Given the description of an element on the screen output the (x, y) to click on. 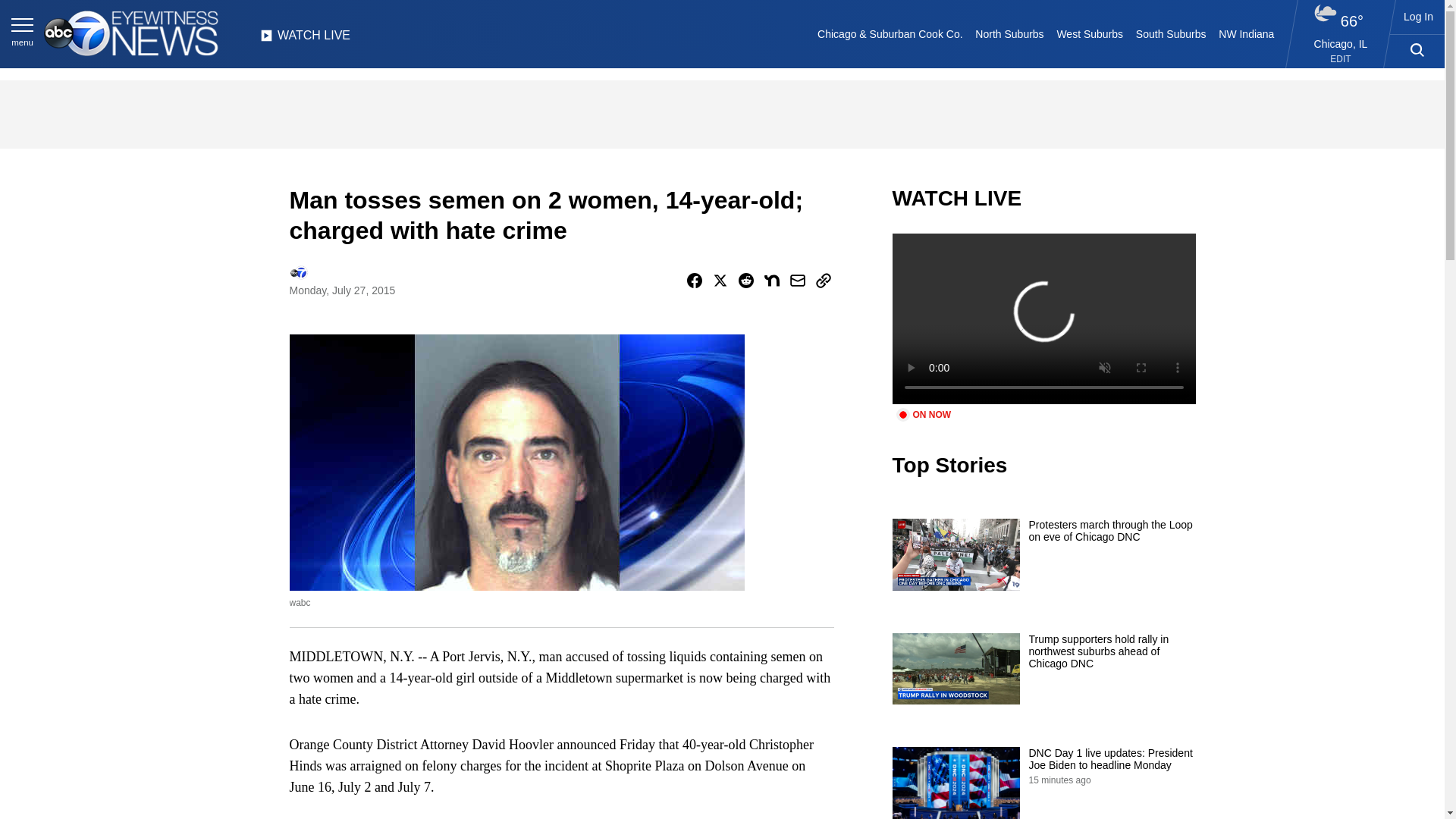
EDIT (1340, 59)
video.title (1043, 318)
Chicago, IL (1340, 43)
South Suburbs (1170, 33)
WATCH LIVE (305, 39)
NW Indiana (1246, 33)
West Suburbs (1089, 33)
North Suburbs (1009, 33)
